Given the description of an element on the screen output the (x, y) to click on. 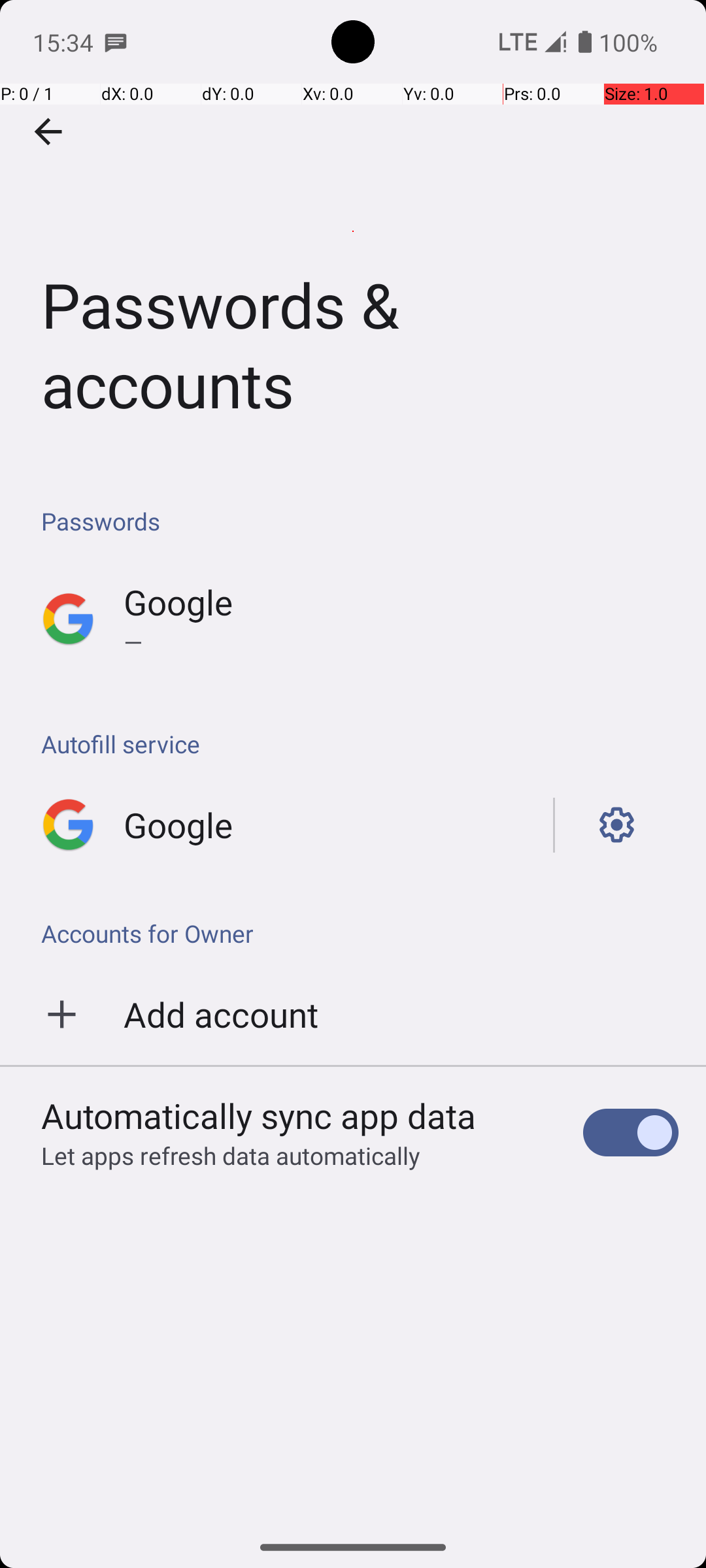
Passwords & accounts Element type: android.widget.FrameLayout (353, 231)
Accounts for Owner Element type: android.widget.LinearLayout (353, 932)
Passwords Element type: android.widget.TextView (359, 520)
Google Element type: android.widget.TextView (177, 601)
— Element type: android.widget.TextView (400, 641)
Autofill service Element type: android.widget.TextView (359, 743)
Automatically sync app data Element type: android.widget.TextView (258, 1115)
Let apps refresh data automatically Element type: android.widget.TextView (230, 1155)
